Given the description of an element on the screen output the (x, y) to click on. 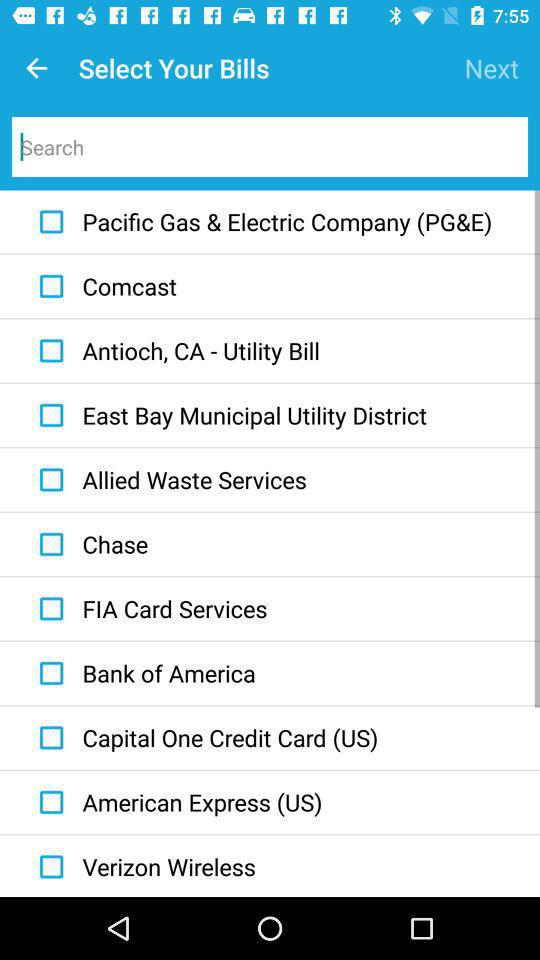
swipe to the chase (89, 544)
